Given the description of an element on the screen output the (x, y) to click on. 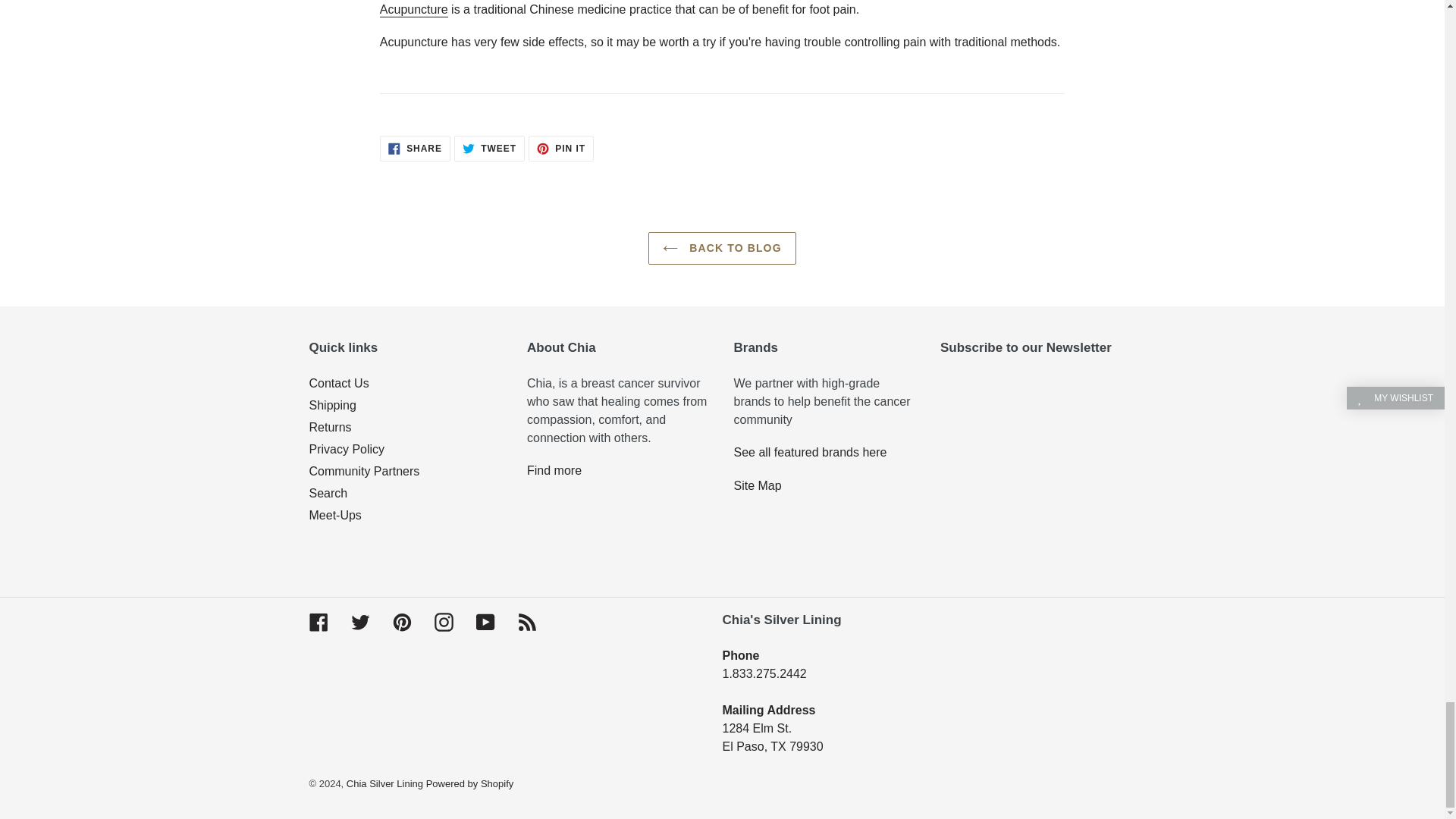
About Chia's Silver Lining (553, 470)
Site Map (757, 485)
